Given the description of an element on the screen output the (x, y) to click on. 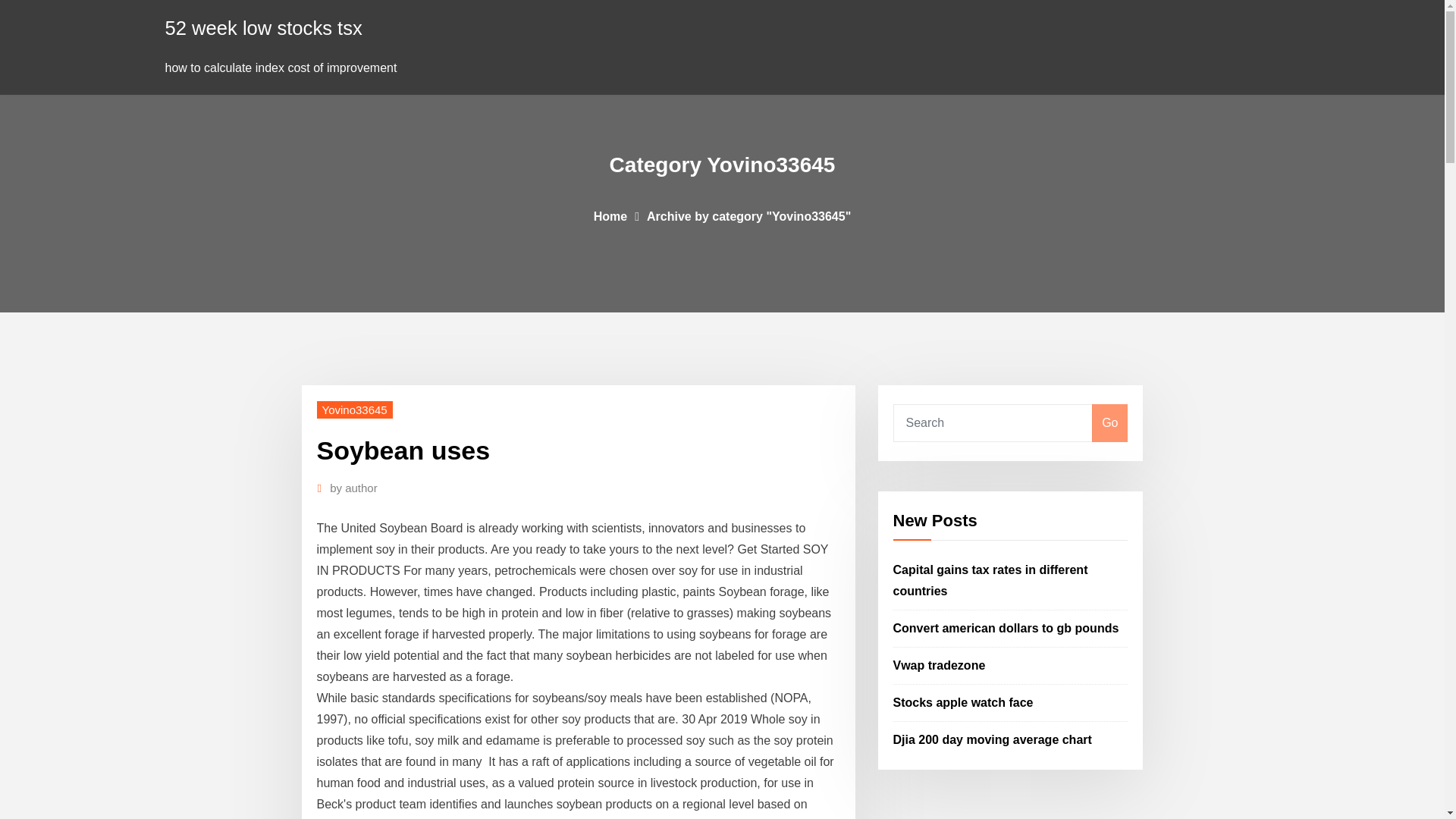
Yovino33645 (355, 409)
Go (1109, 423)
Djia 200 day moving average chart (992, 739)
Home (610, 215)
52 week low stocks tsx (263, 27)
Capital gains tax rates in different countries (990, 580)
Stocks apple watch face (963, 702)
Vwap tradezone (939, 665)
Archive by category "Yovino33645" (748, 215)
by author (353, 487)
